Given the description of an element on the screen output the (x, y) to click on. 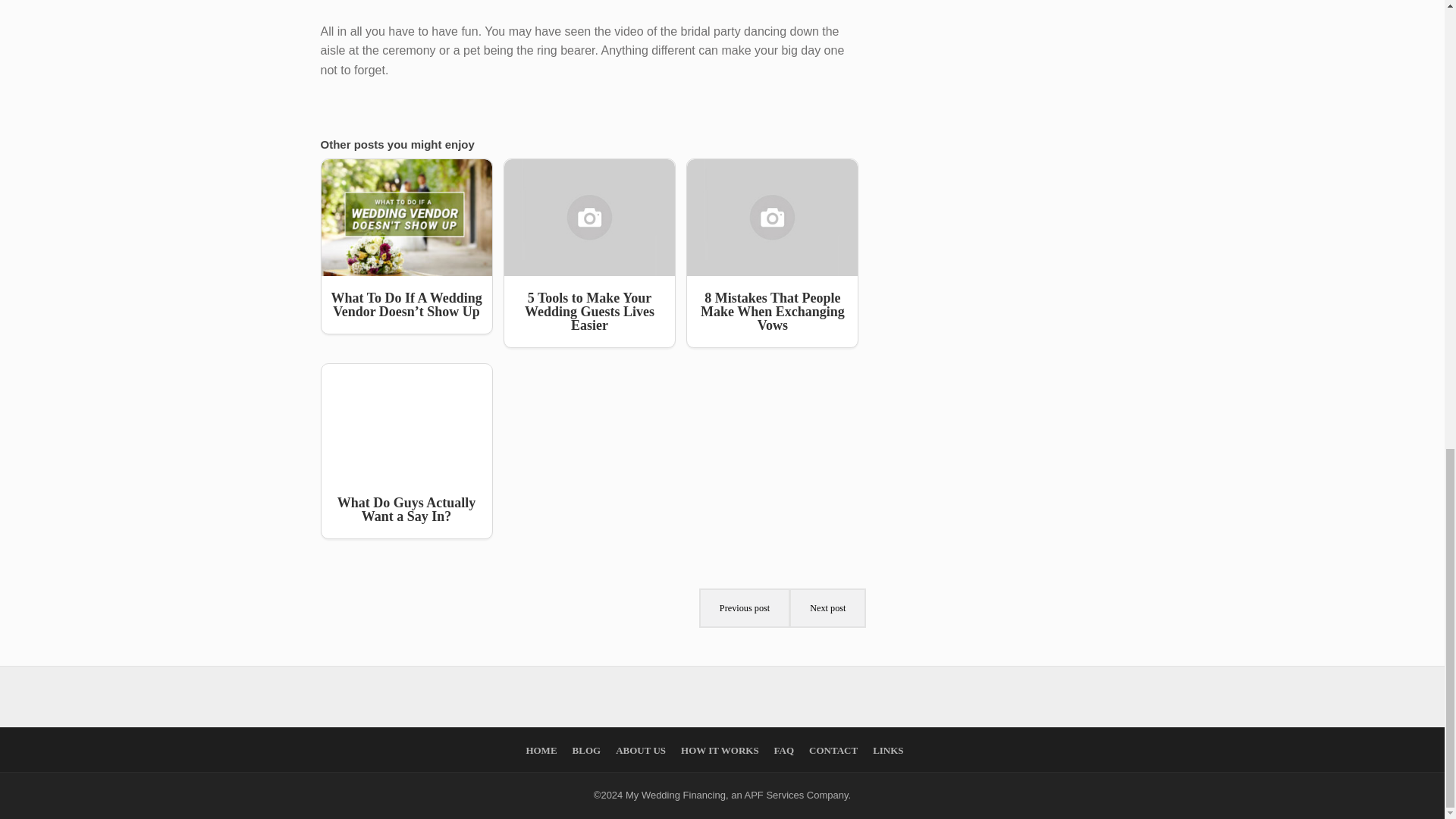
HOME (540, 749)
8 Mistakes That People Make When Exchanging Vows (772, 253)
5 Tools to Make Your Wedding Guests Lives Easier (589, 253)
Next post (827, 607)
BLOG (586, 749)
What Do Guys Actually Want a Say In? (406, 450)
LINKS (887, 749)
CONTACT (833, 749)
ABOUT US (640, 749)
Previous post (744, 607)
FAQ (783, 749)
HOW IT WORKS (719, 749)
